Given the description of an element on the screen output the (x, y) to click on. 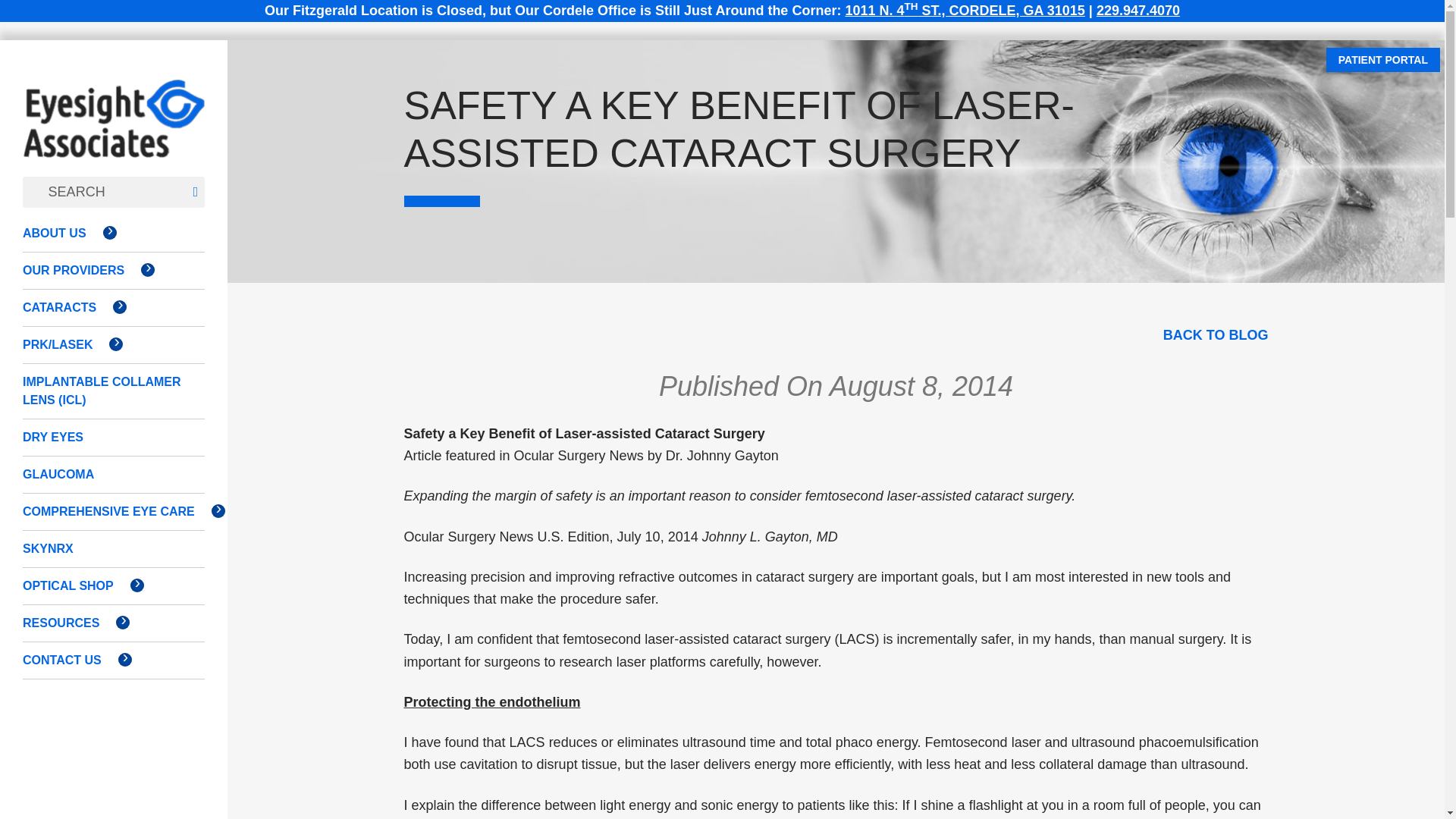
ABOUT US (59, 233)
PATIENT PORTAL (1382, 59)
OUR PROVIDERS (78, 270)
Return to the home page (114, 134)
CATARACTS (63, 307)
1011 N. 4TH ST., CORDELE, GA 31015 (964, 10)
229.947.4070 (1137, 10)
